Given the description of an element on the screen output the (x, y) to click on. 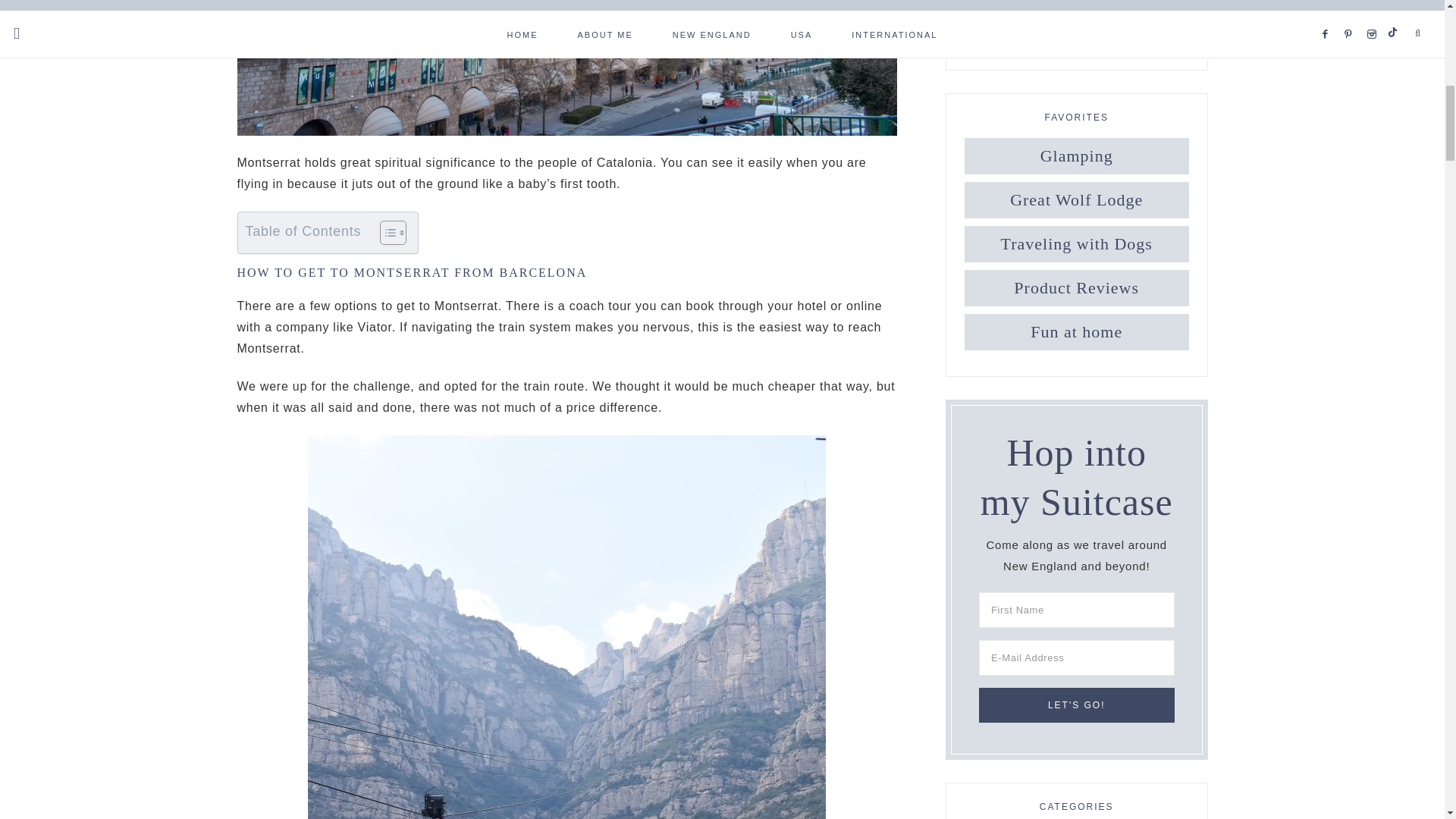
Let's Go! (1076, 704)
